Given the description of an element on the screen output the (x, y) to click on. 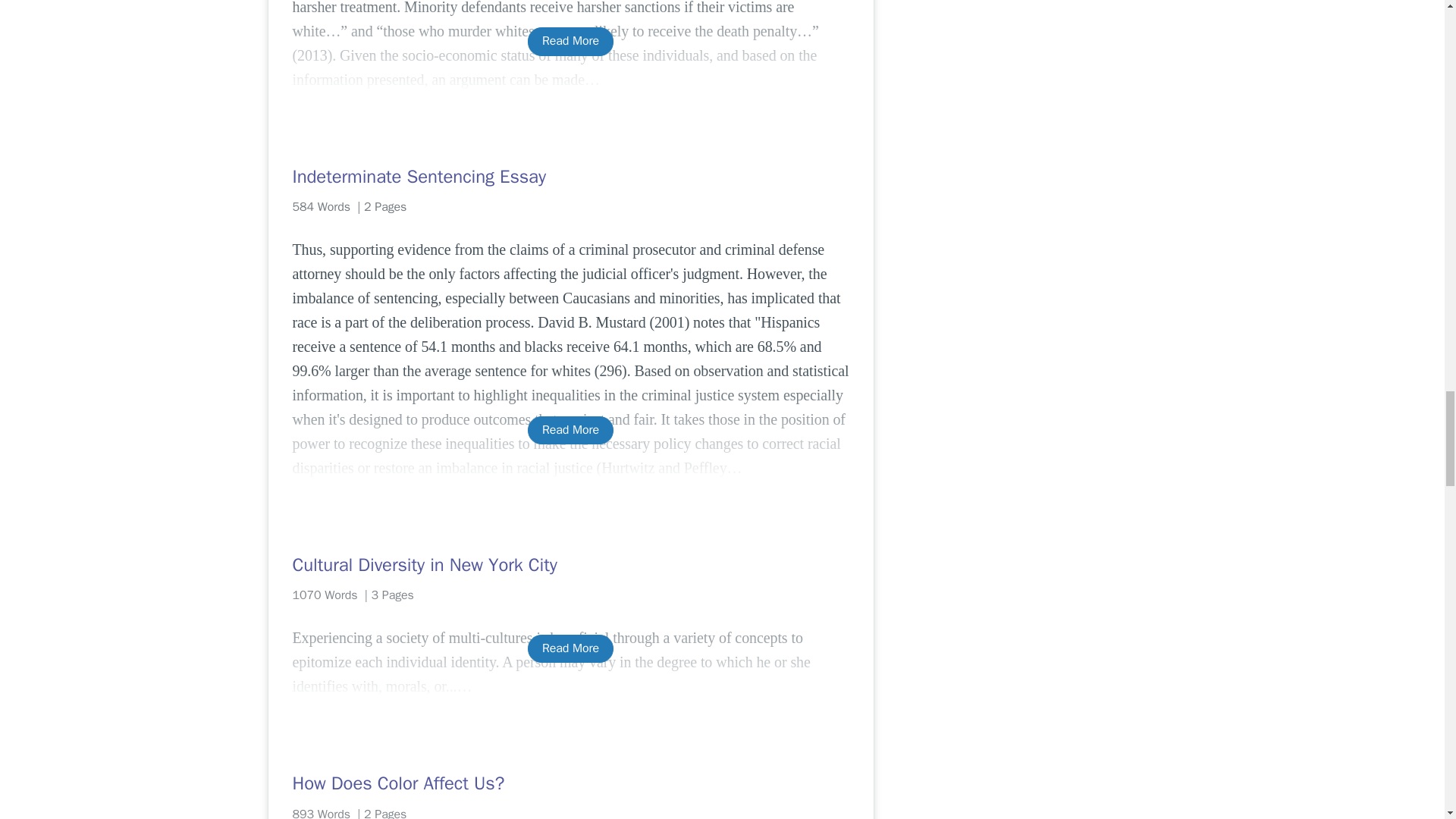
Read More (569, 41)
Read More (569, 648)
Read More (569, 430)
Cultural Diversity in New York City (570, 564)
How Does Color Affect Us? (570, 783)
Indeterminate Sentencing Essay (570, 176)
